Given the description of an element on the screen output the (x, y) to click on. 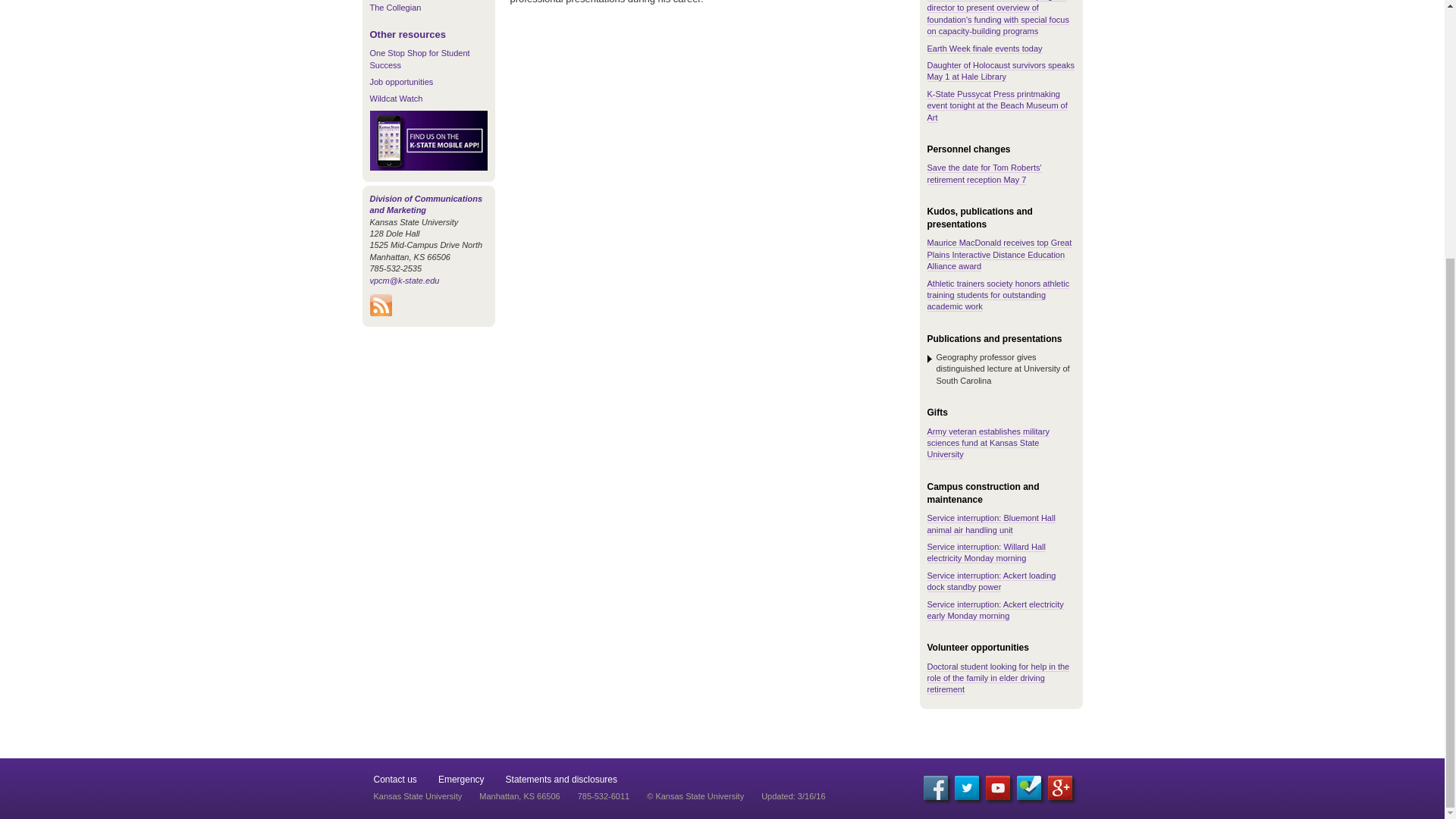
The Collegian (395, 7)
Job opportunities (401, 81)
Subscribe to K-State Today RSS feeds (380, 312)
Facebook (935, 787)
Wildcat Watch (396, 98)
